Given the description of an element on the screen output the (x, y) to click on. 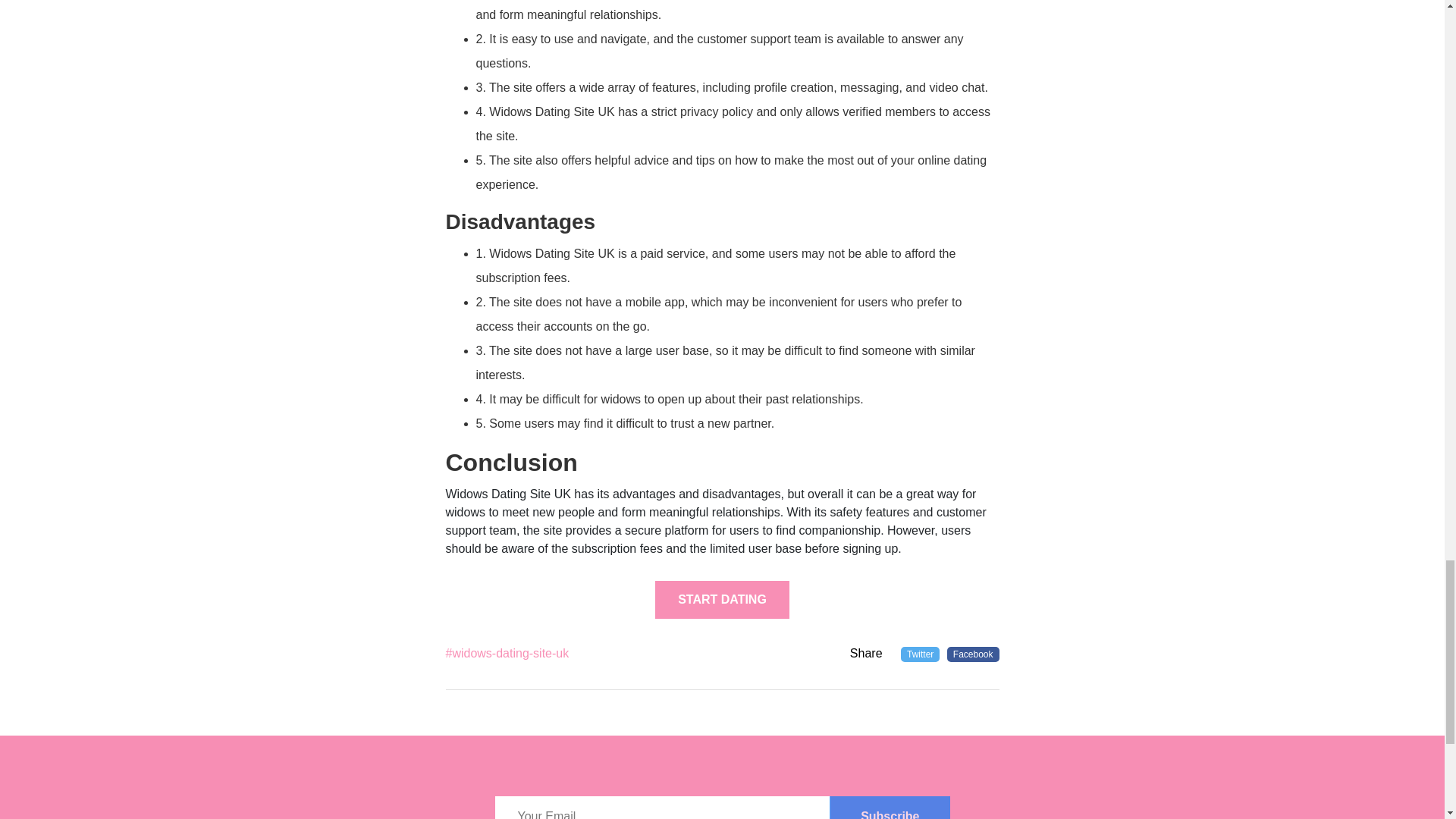
Subscribe (889, 807)
Facebook (972, 654)
START DATING (722, 599)
Twitter (920, 654)
